Given the description of an element on the screen output the (x, y) to click on. 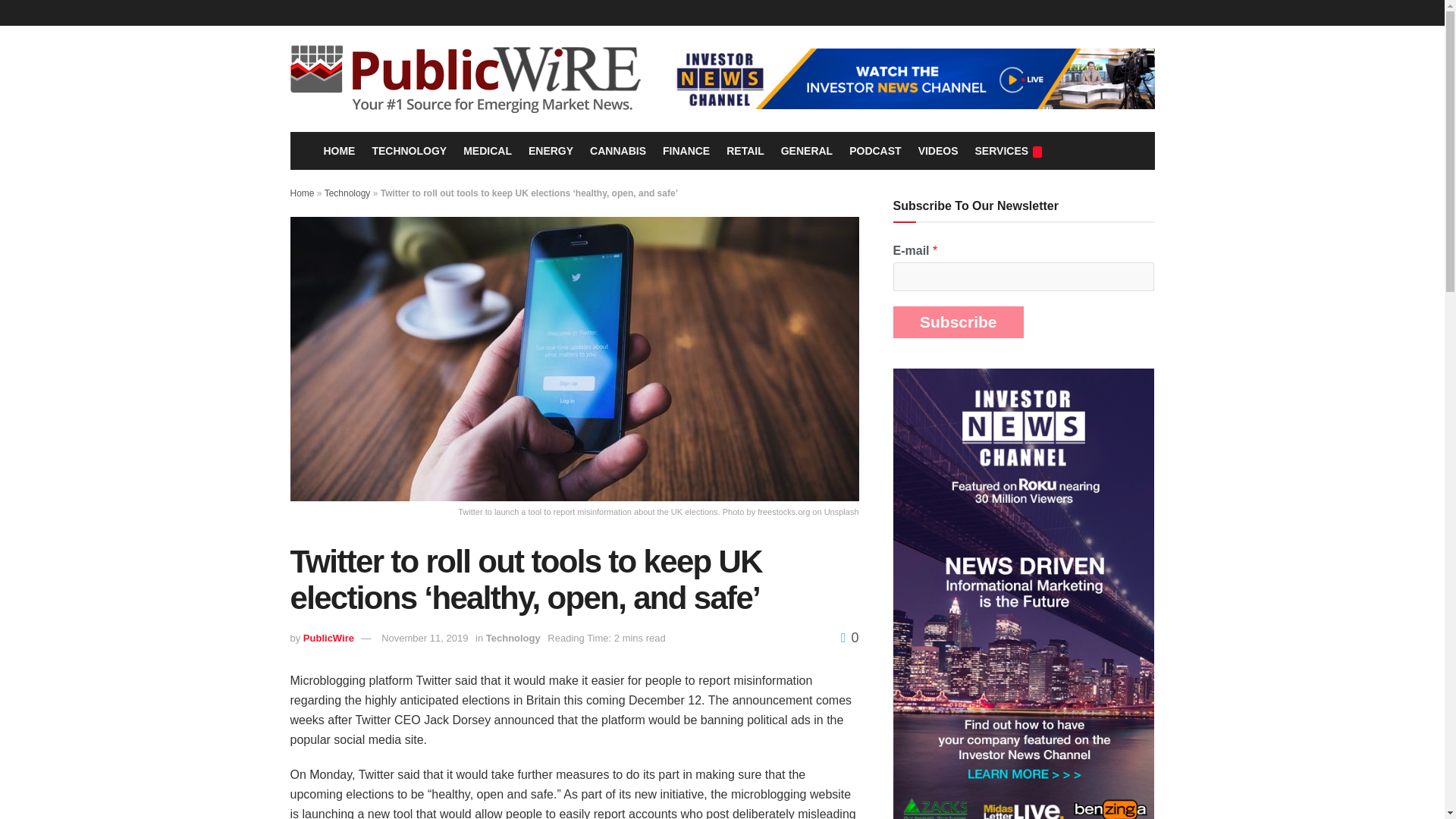
0 (850, 637)
 HOME (337, 150)
November 11, 2019 (424, 637)
PODCAST (874, 150)
CANNABIS (617, 150)
MEDICAL (487, 150)
VIDEOS (938, 150)
RETAIL (745, 150)
TECHNOLOGY (408, 150)
